Given the description of an element on the screen output the (x, y) to click on. 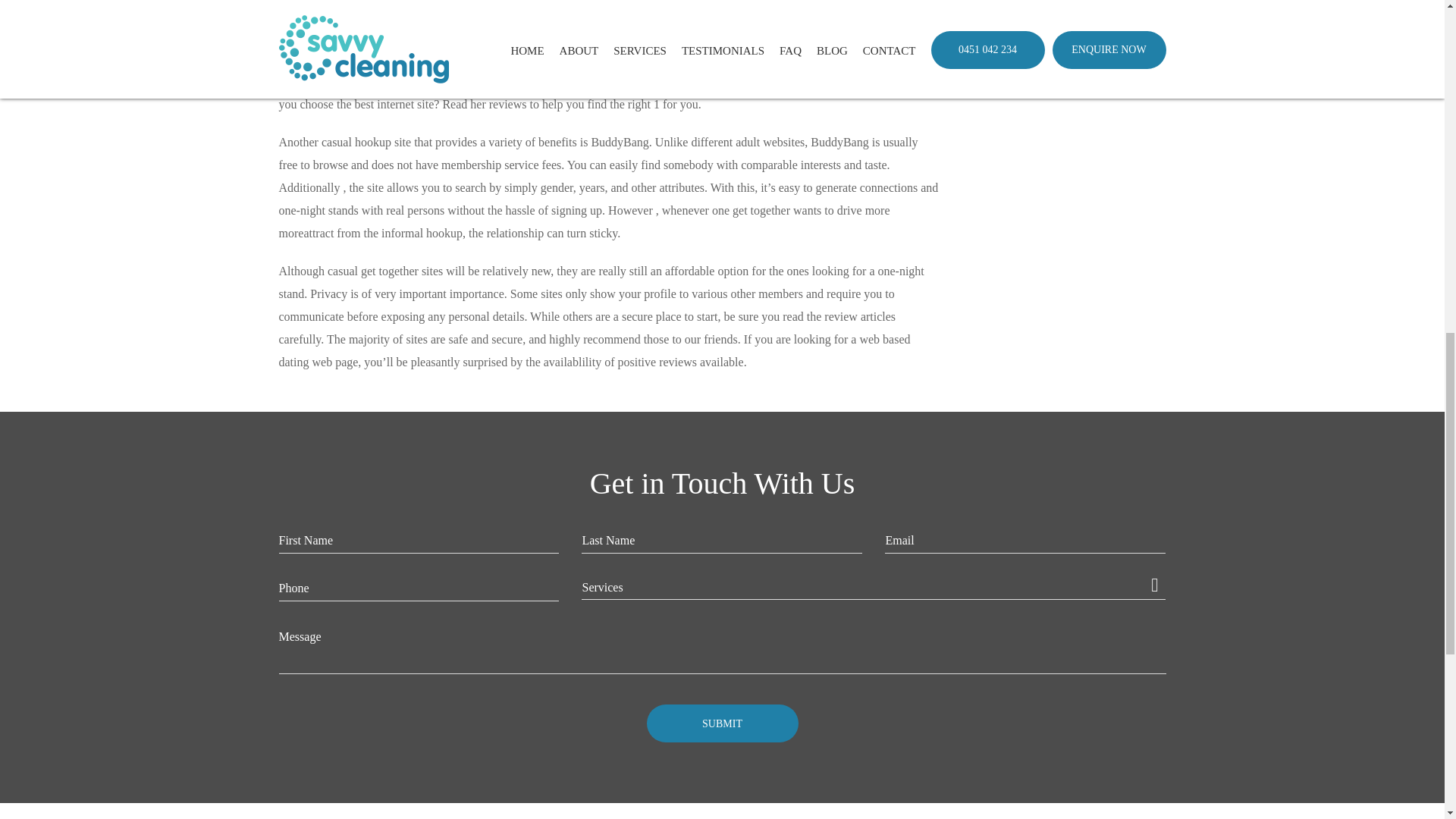
Submit (721, 723)
Submit (721, 723)
